Given the description of an element on the screen output the (x, y) to click on. 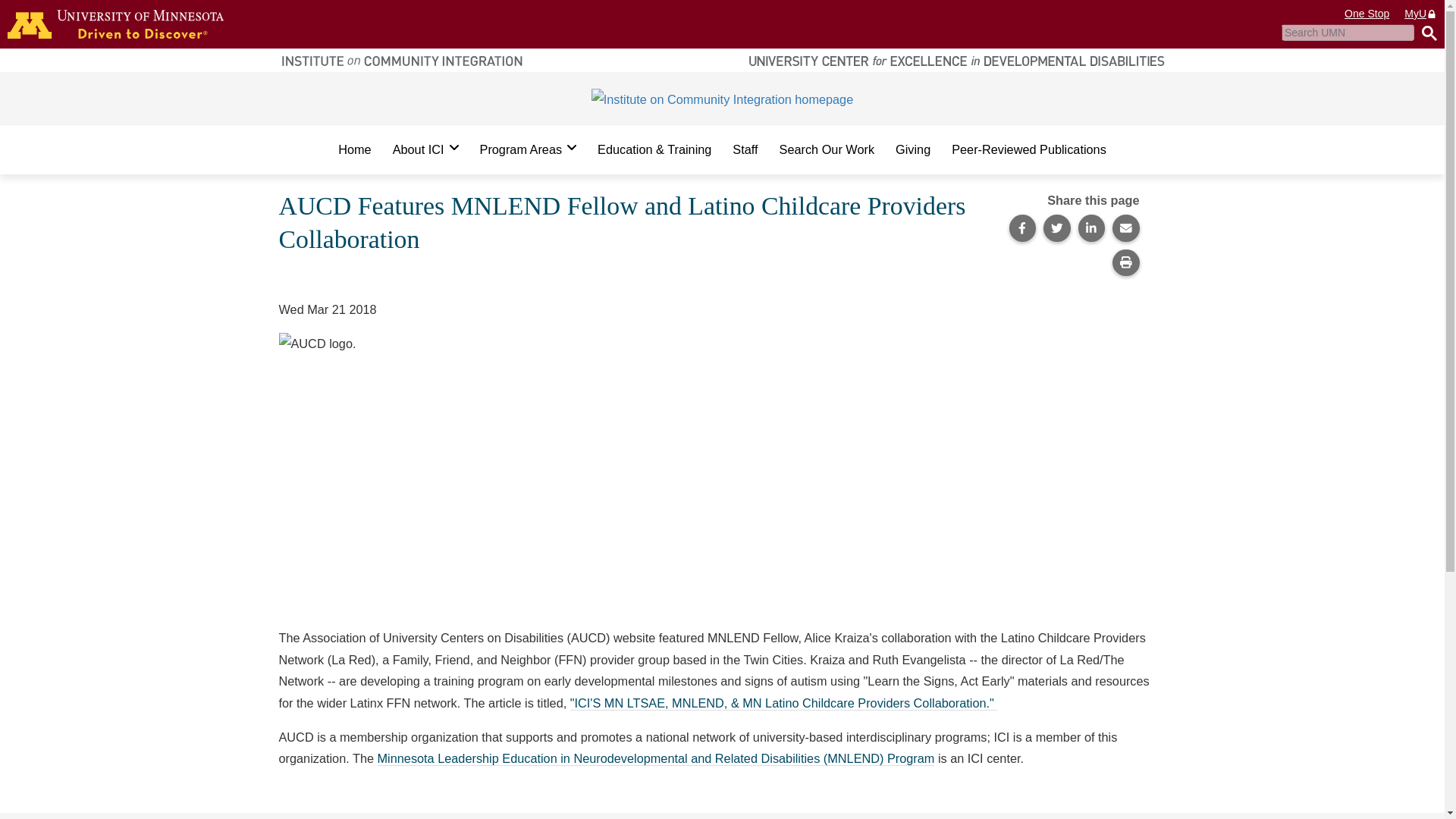
home page (115, 24)
Staff (745, 149)
Print this page. (1126, 262)
Share this page on Facebook. (1022, 227)
Program Areas (528, 149)
One Stop (1366, 13)
Search Our Work (826, 149)
About ICI (425, 149)
Button (1425, 32)
Peer-Reviewed Publications (1028, 149)
